Given the description of an element on the screen output the (x, y) to click on. 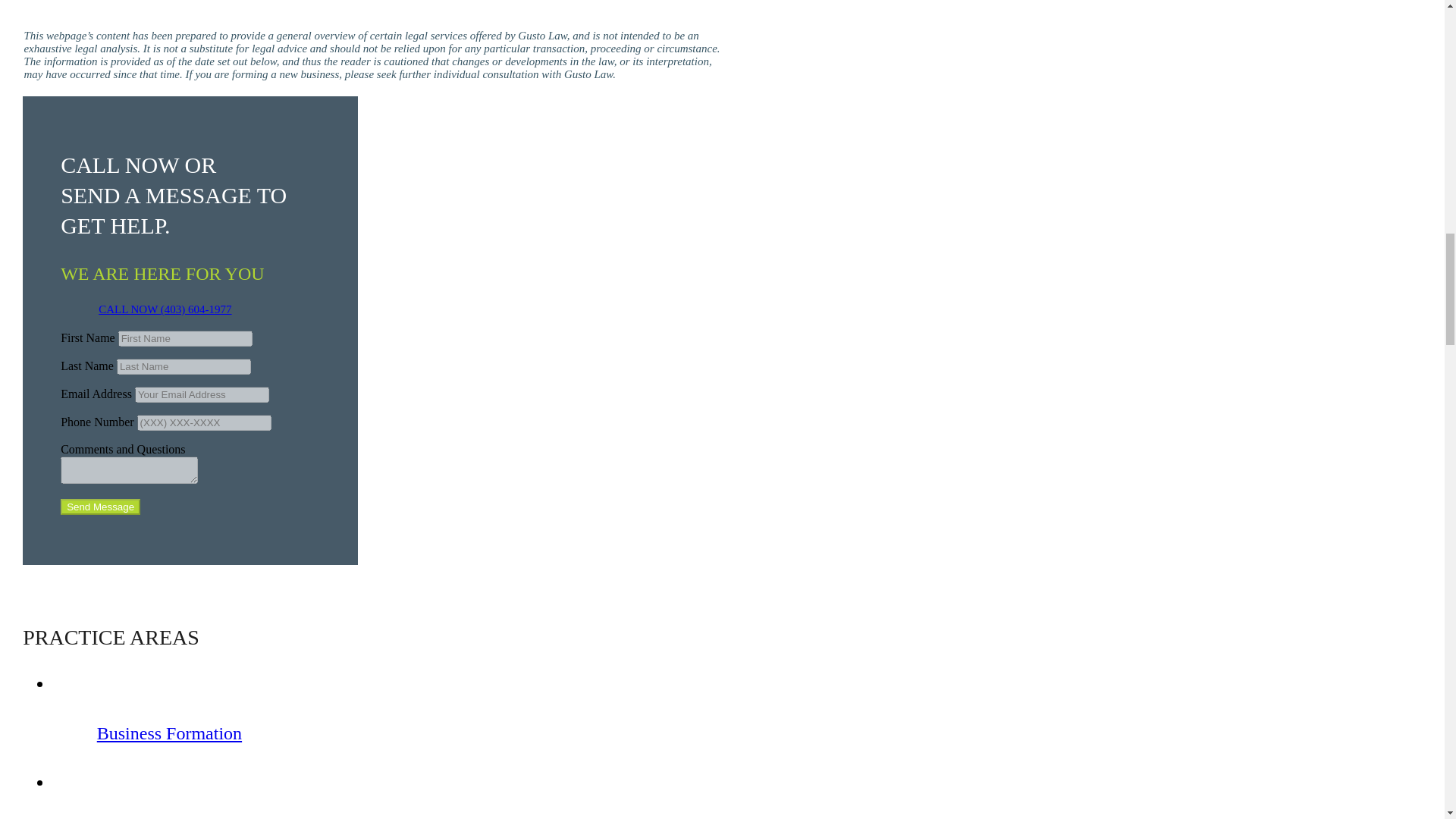
Send Message (100, 506)
Send Message (100, 506)
Business Formation (169, 732)
